Given the description of an element on the screen output the (x, y) to click on. 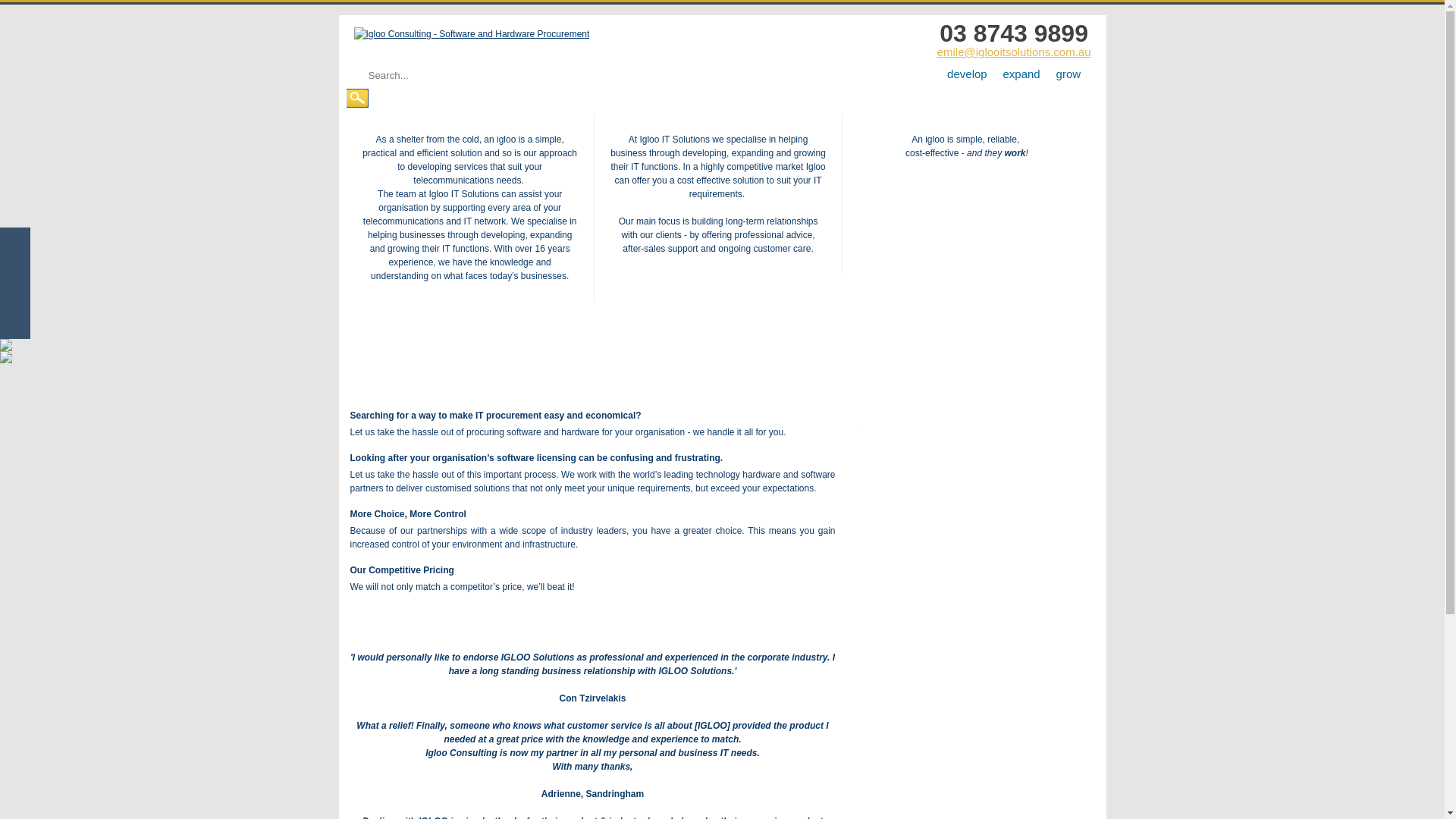
Igloo Consulting - Software and Hardware Procurement Element type: hover (471, 33)
emile@iglooitsolutions.com.au Element type: text (1014, 51)
